Given the description of an element on the screen output the (x, y) to click on. 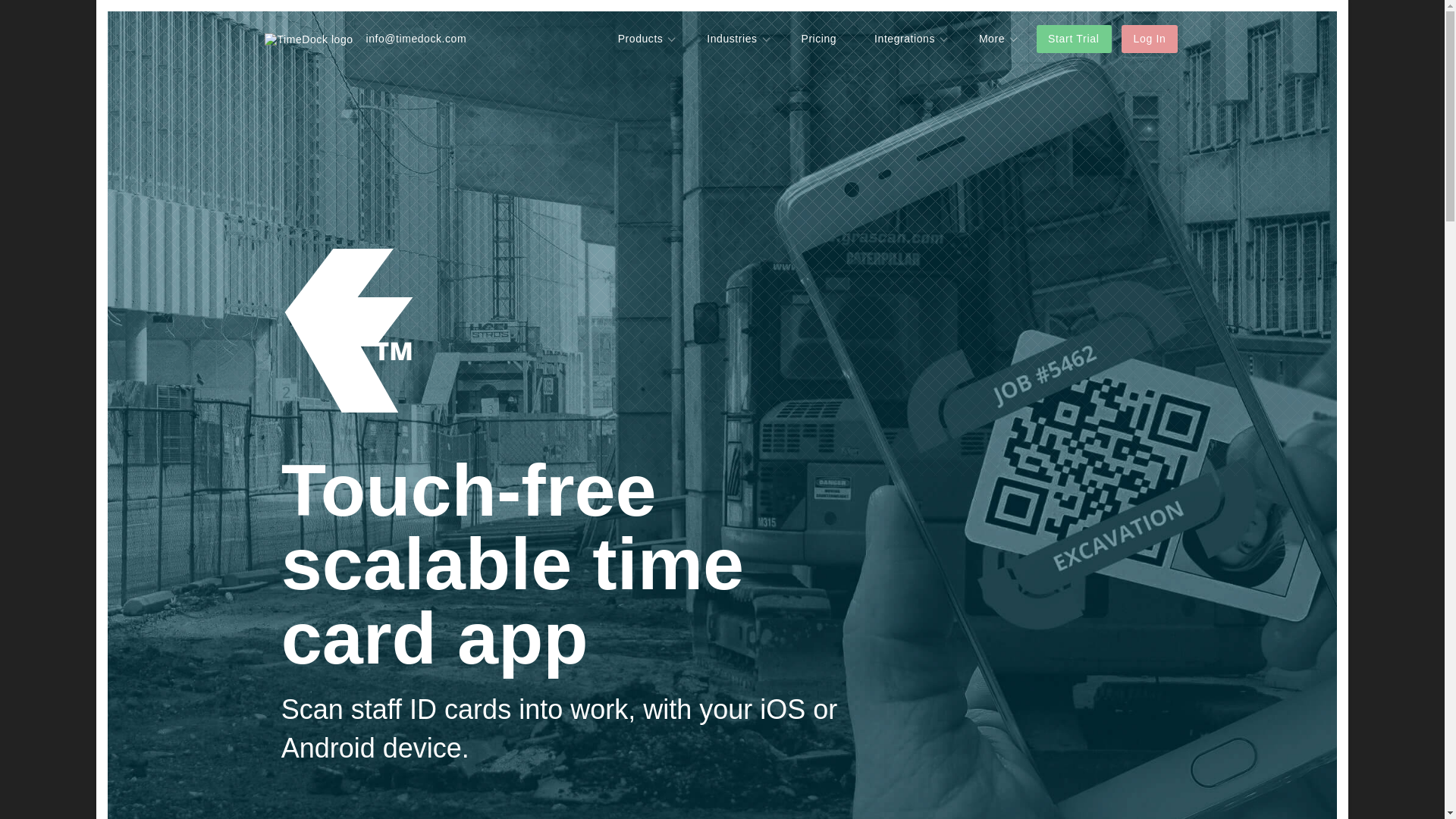
Integrations (912, 38)
Products (649, 38)
Pricing (818, 38)
Industries (740, 38)
